Given the description of an element on the screen output the (x, y) to click on. 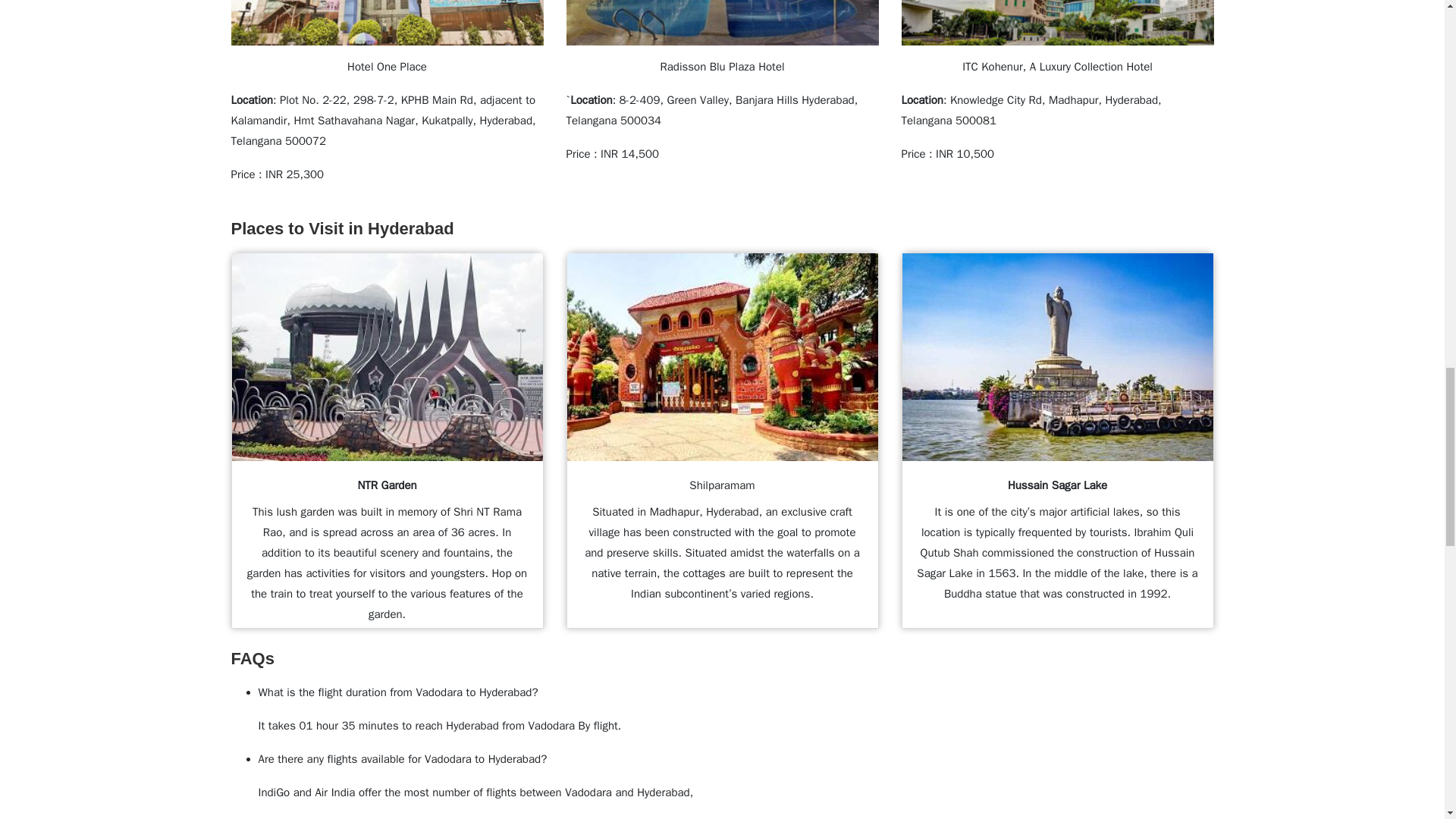
Radisson Blu Plaza Hotel Hyderabad - Lowest Flight Fares (721, 22)
Hotel One Place Hotel Hyderabad - Lowest Flight Fares (386, 22)
